Given the description of an element on the screen output the (x, y) to click on. 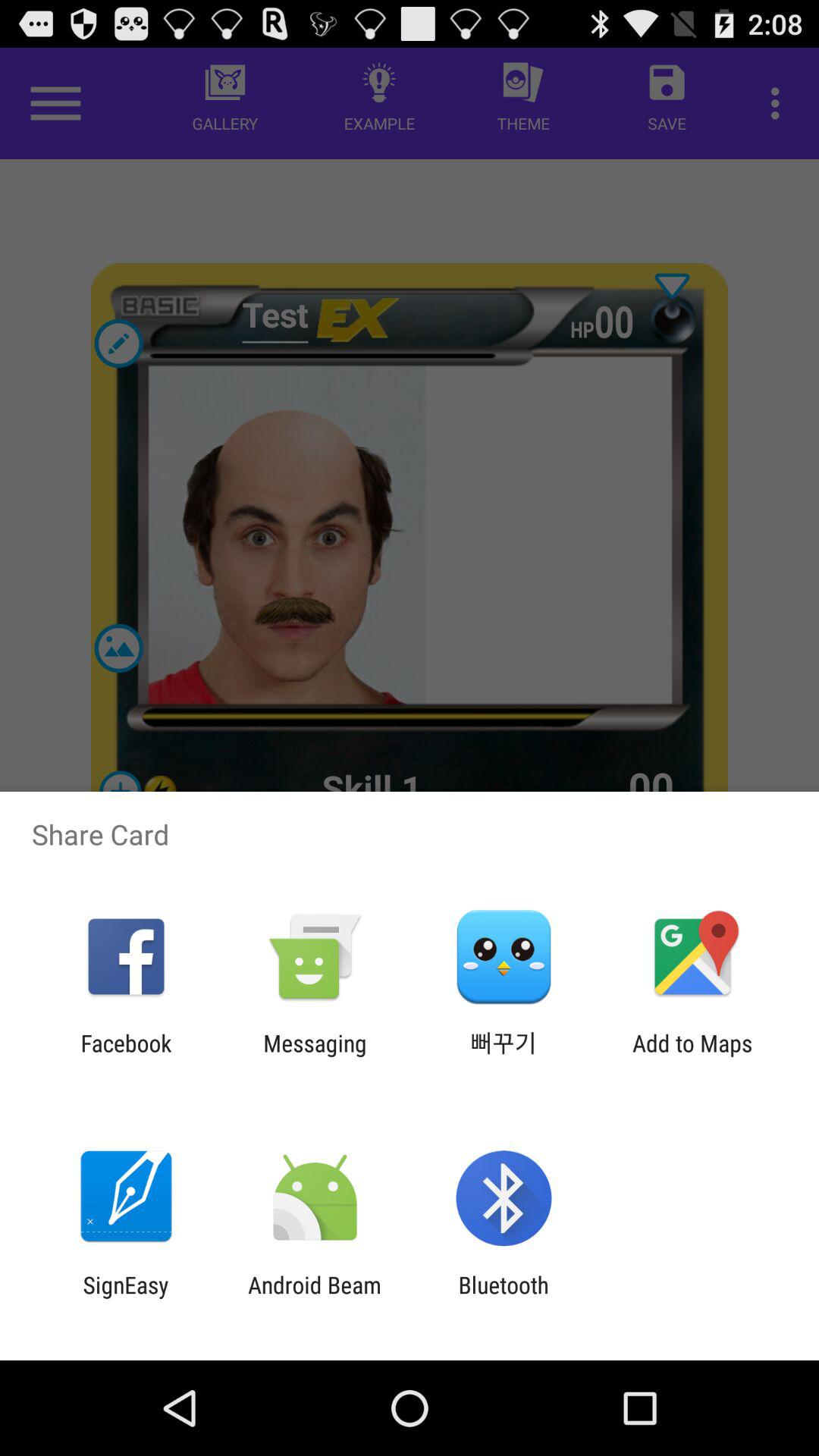
press item next to the add to maps item (503, 1056)
